Given the description of an element on the screen output the (x, y) to click on. 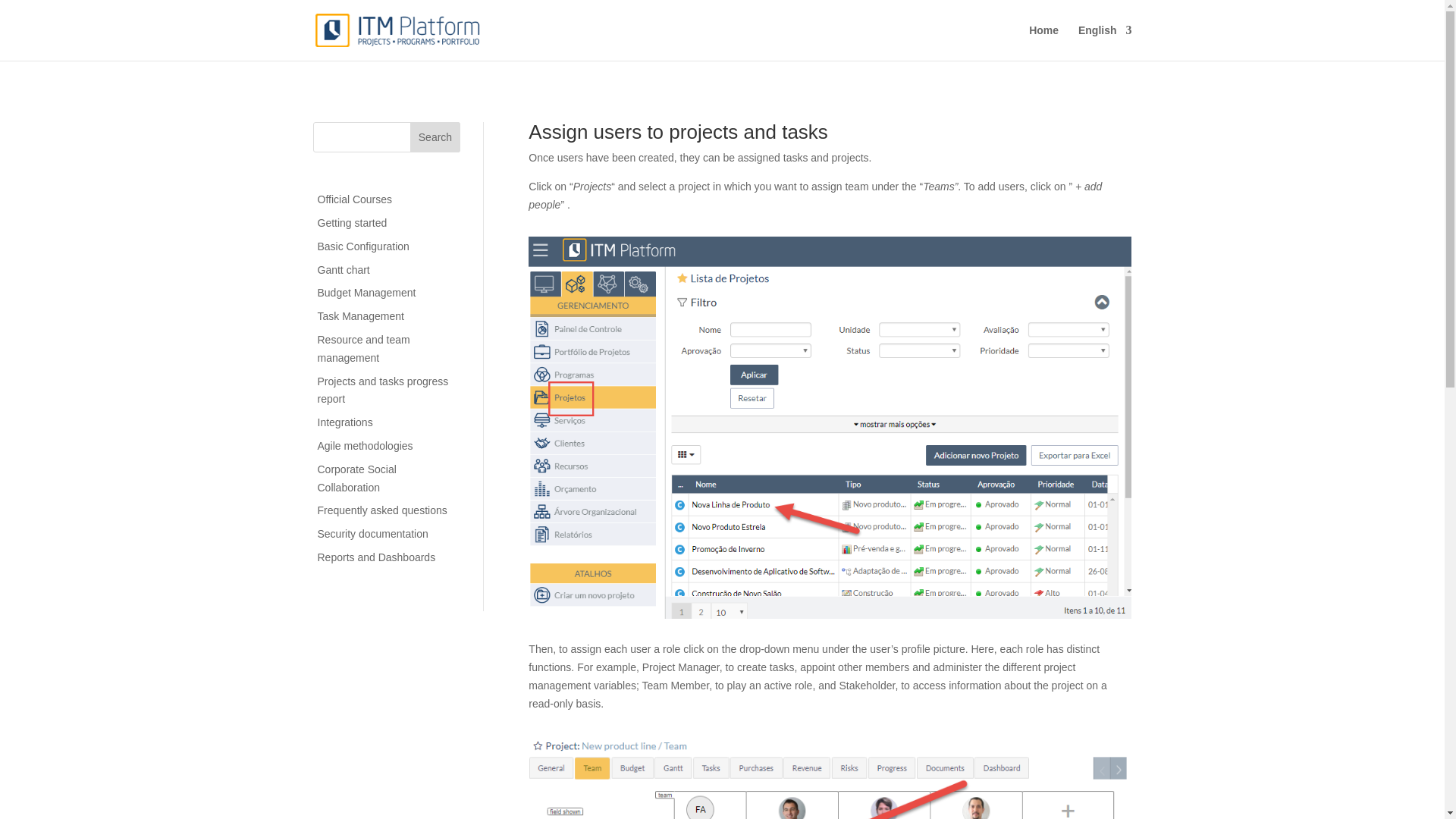
Task Management (360, 316)
Gantt chart (343, 269)
Frequently asked questions (381, 510)
Corporate Social Collaboration (356, 478)
Basic Configuration (363, 246)
Budget Management (365, 292)
Official Courses (354, 199)
English (1105, 42)
Getting started (352, 223)
Reports and Dashboards (376, 557)
Integrations (344, 422)
Security documentation (372, 533)
Agile methodologies (364, 445)
Search (435, 137)
Resource and team management (363, 348)
